Given the description of an element on the screen output the (x, y) to click on. 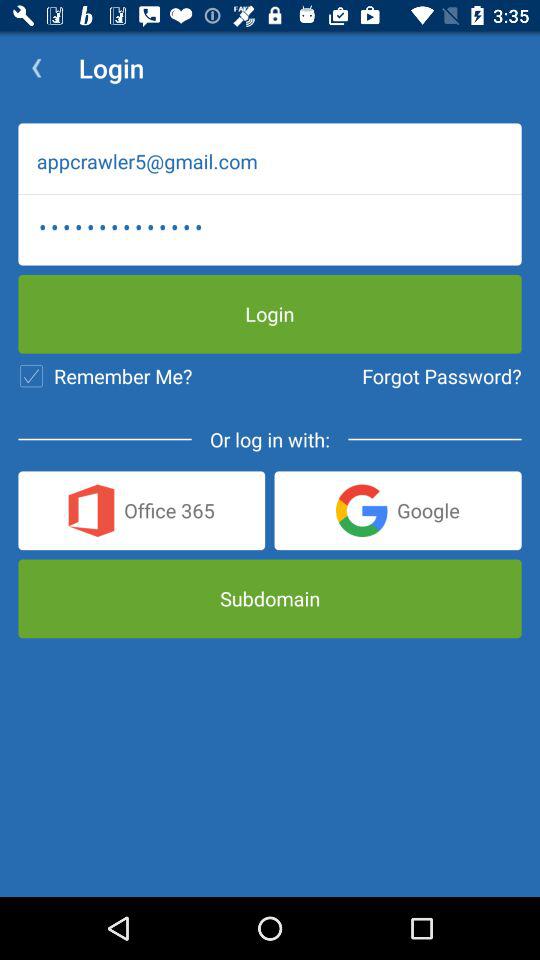
select the app next to the login (36, 68)
